Given the description of an element on the screen output the (x, y) to click on. 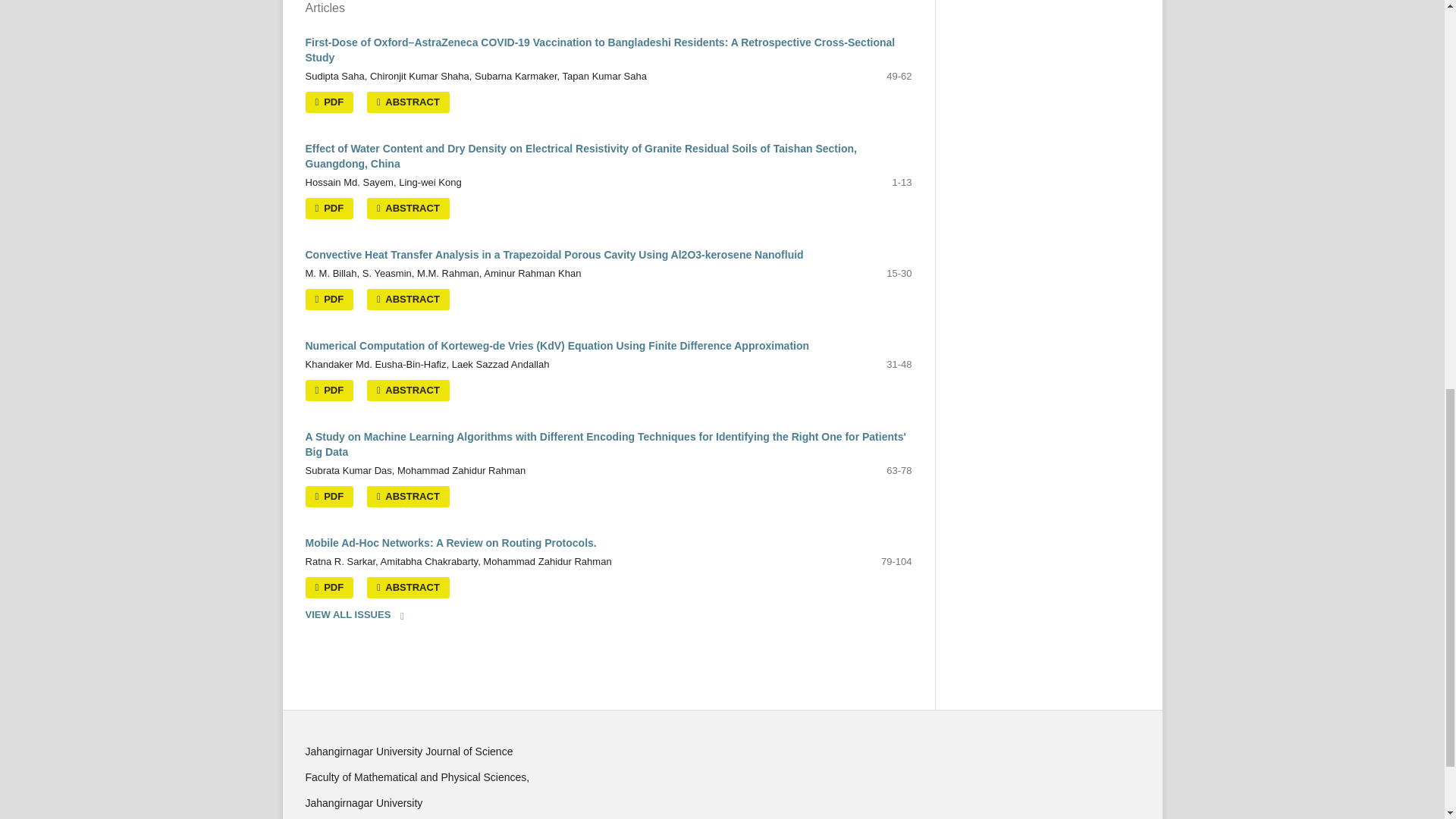
ABSTRACT (407, 102)
PDF (328, 299)
PDF (328, 102)
ABSTRACT (407, 299)
ABSTRACT (407, 208)
PDF (328, 208)
